Given the description of an element on the screen output the (x, y) to click on. 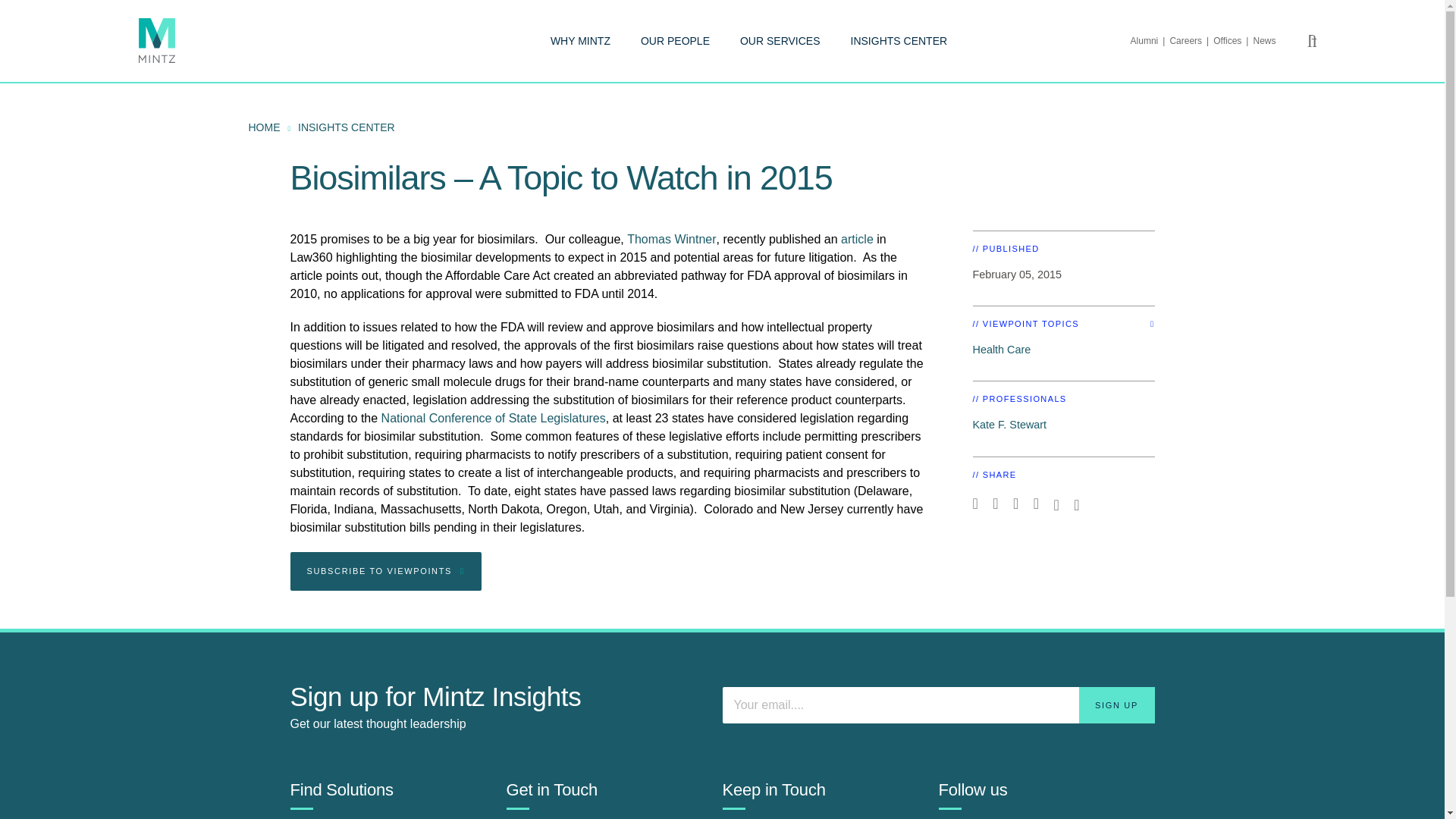
Alumni (1150, 40)
Offices (1232, 40)
Careers (1190, 40)
Health Care (1001, 349)
OUR SERVICES (780, 40)
Kate F. Stewart (1009, 424)
National Conference of State Legislatures (493, 418)
Thomas Wintner (671, 238)
article (857, 238)
INSIGHTS CENTER (898, 40)
HOME (264, 127)
News (1263, 40)
OUR PEOPLE (675, 40)
WHY MINTZ (580, 40)
